Given the description of an element on the screen output the (x, y) to click on. 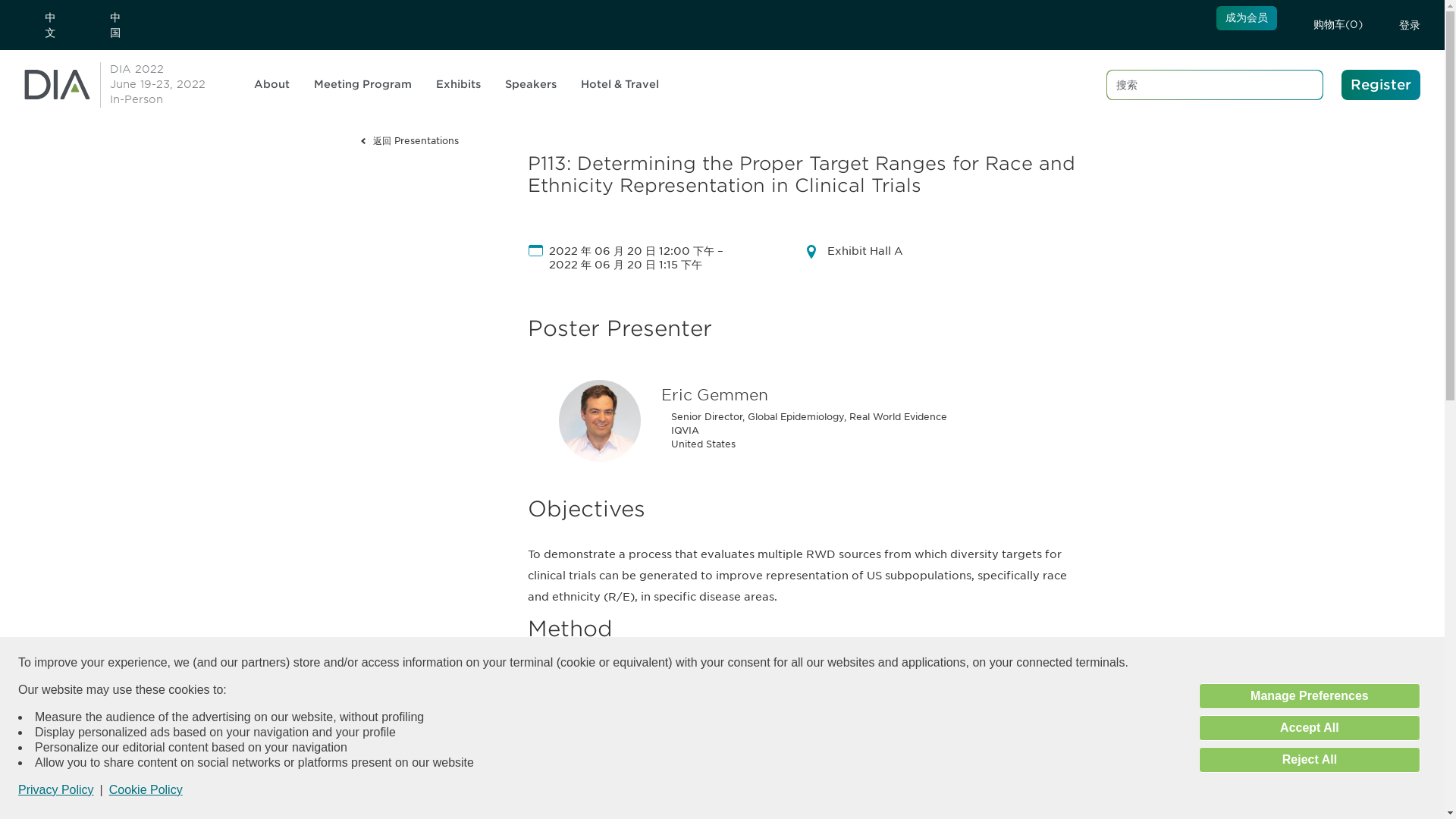
Exhibits (464, 84)
Cookie Policy (146, 789)
Register (1380, 84)
Accept All (1309, 727)
About (277, 84)
Reject All (1309, 759)
Privacy Policy (55, 789)
Manage Preferences (1309, 696)
Speakers (537, 84)
Meeting Program (368, 84)
